Given the description of an element on the screen output the (x, y) to click on. 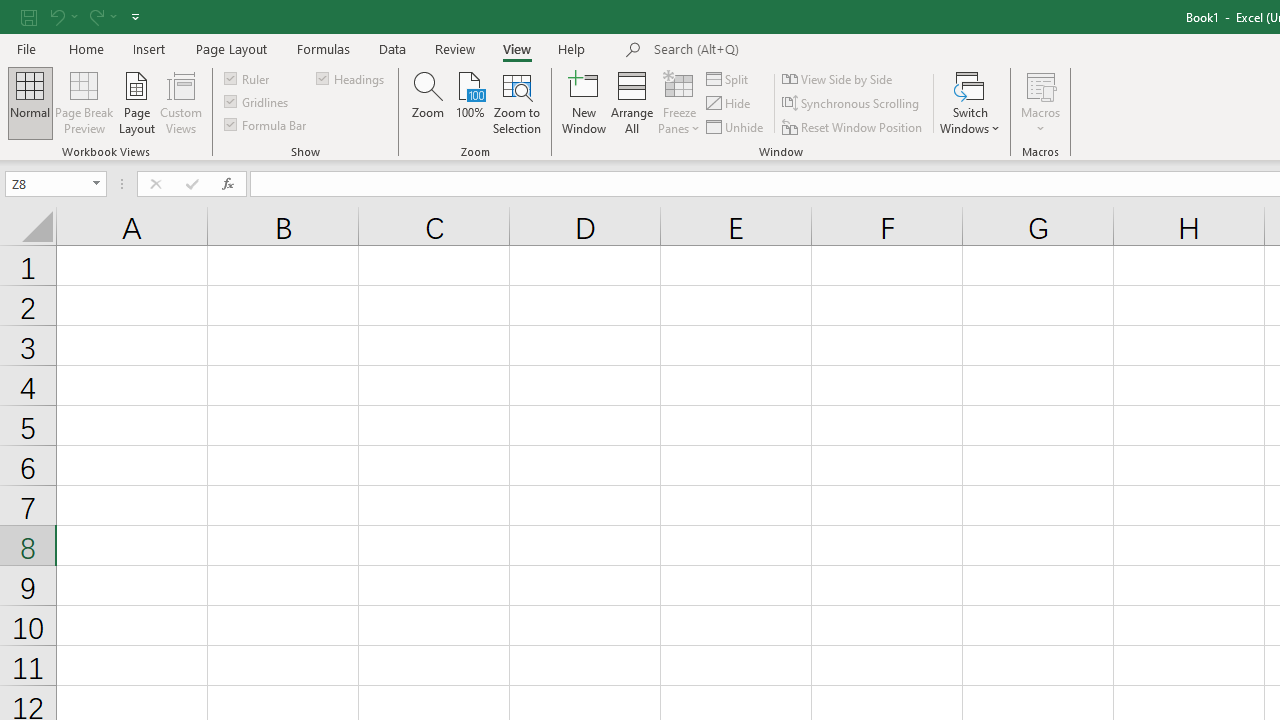
Gridlines (257, 101)
View Side by Side (838, 78)
Macros (1040, 102)
100% (470, 102)
Arrange All (632, 102)
Zoom... (428, 102)
